Given the description of an element on the screen output the (x, y) to click on. 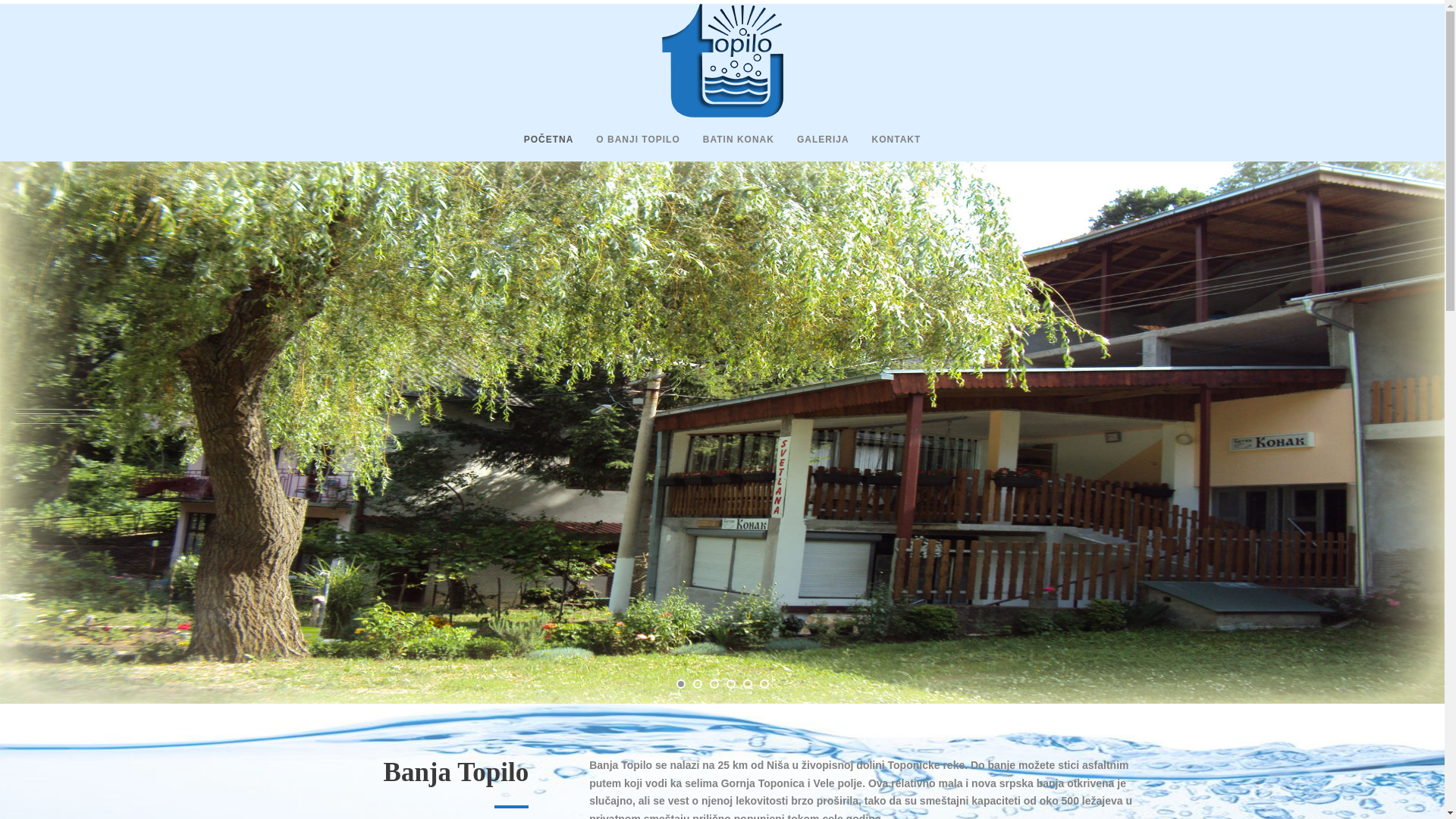
GALERIJA (811, 146)
BATIN KONAK (726, 146)
O BANJI TOPILO (626, 146)
KONTAKT (884, 146)
